Given the description of an element on the screen output the (x, y) to click on. 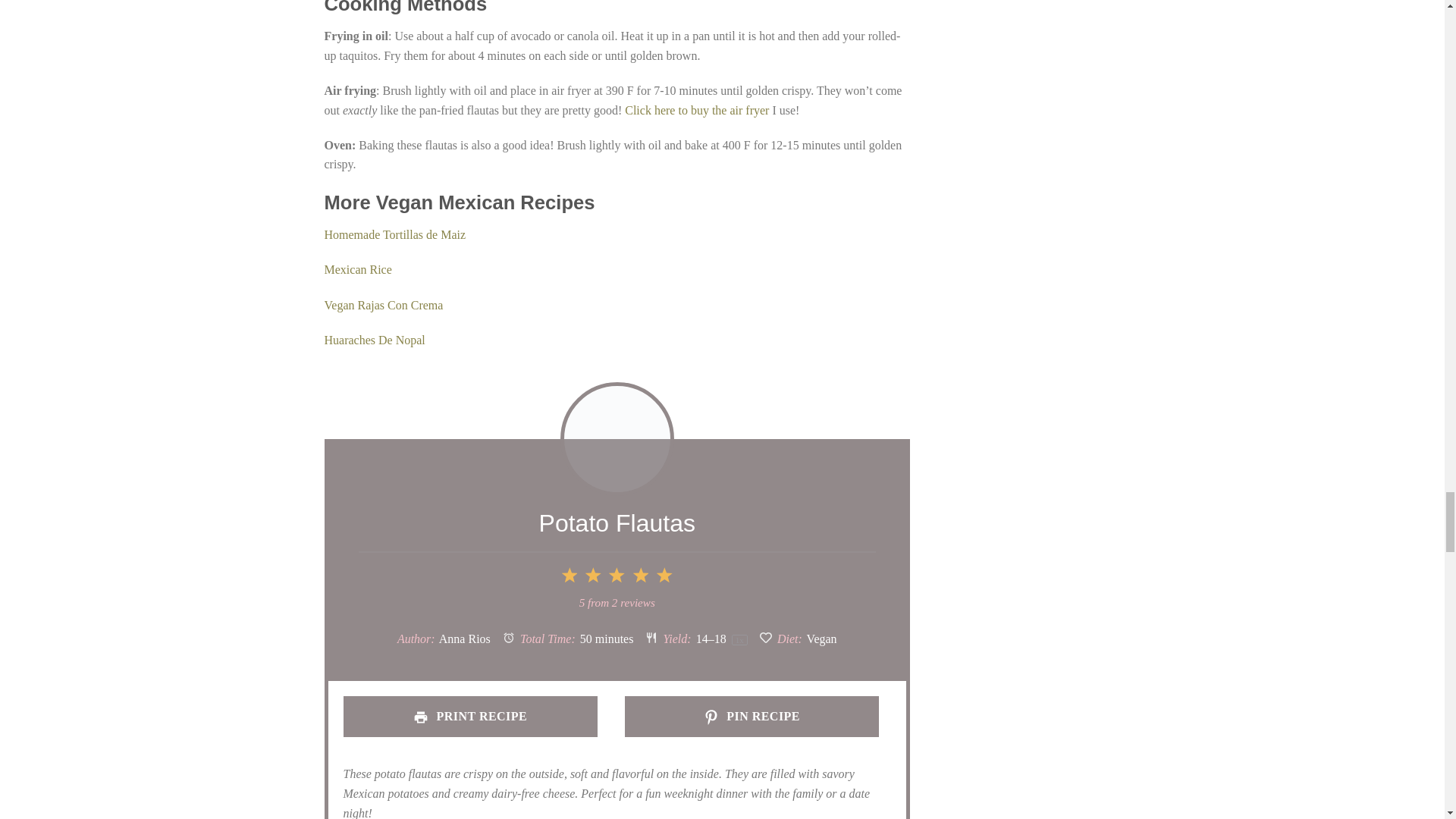
Mexican Rice (357, 269)
Huaraches De Nopal (374, 339)
Click here to buy the air fryer (696, 109)
PRINT RECIPE (469, 716)
PIN RECIPE (751, 716)
Homemade Tortillas de Maiz (394, 234)
Vegan Rajas Con Crema (384, 305)
